Given the description of an element on the screen output the (x, y) to click on. 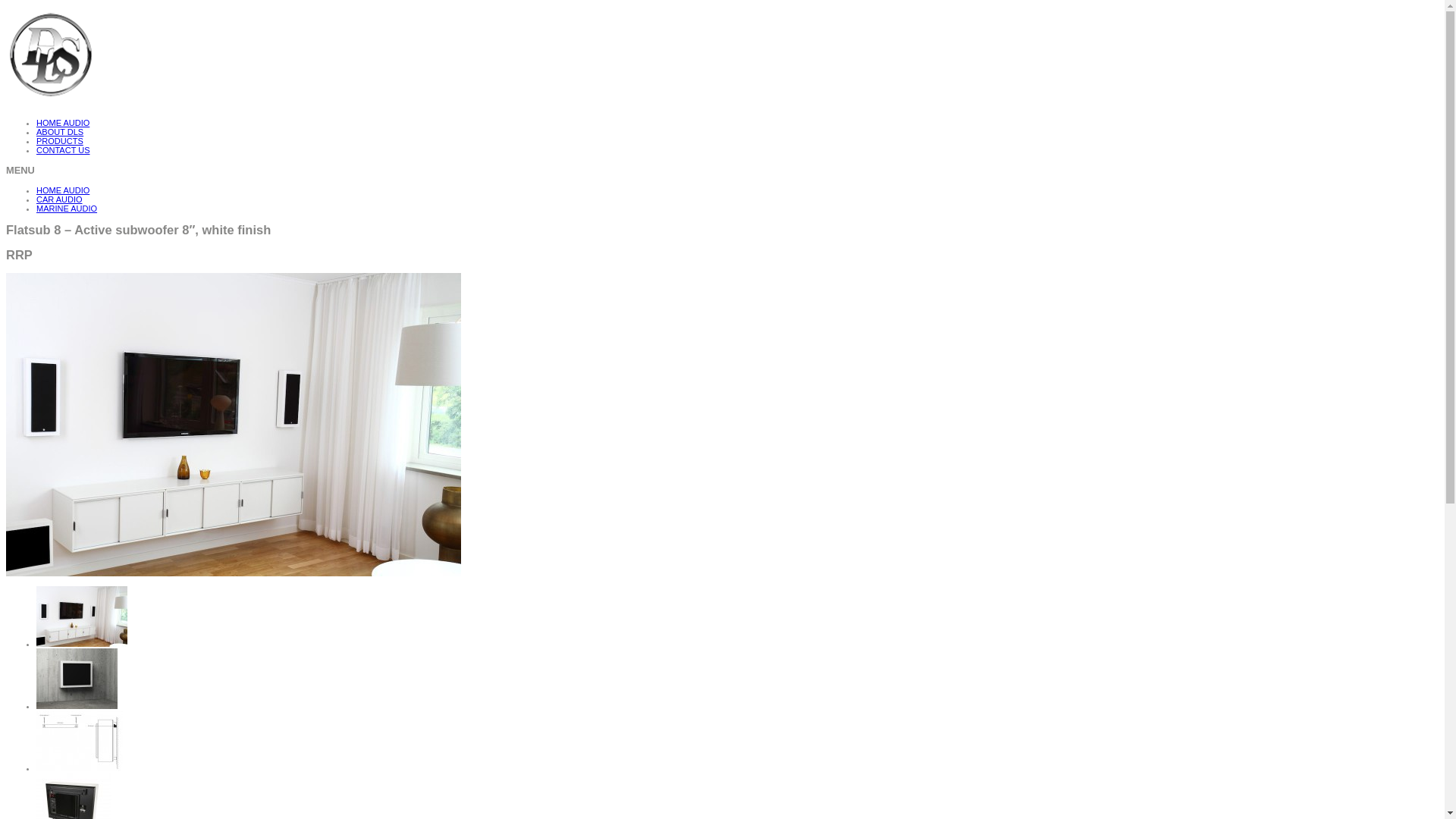
ABOUT DLS Element type: text (59, 131)
PRODUCTS Element type: text (59, 140)
CAR AUDIO Element type: text (59, 198)
HOME AUDIO Element type: text (62, 189)
MARINE AUDIO Element type: text (66, 208)
HOME AUDIO Element type: text (62, 122)
CONTACT US Element type: text (63, 149)
Audio for Life Element type: hover (157, 57)
